Given the description of an element on the screen output the (x, y) to click on. 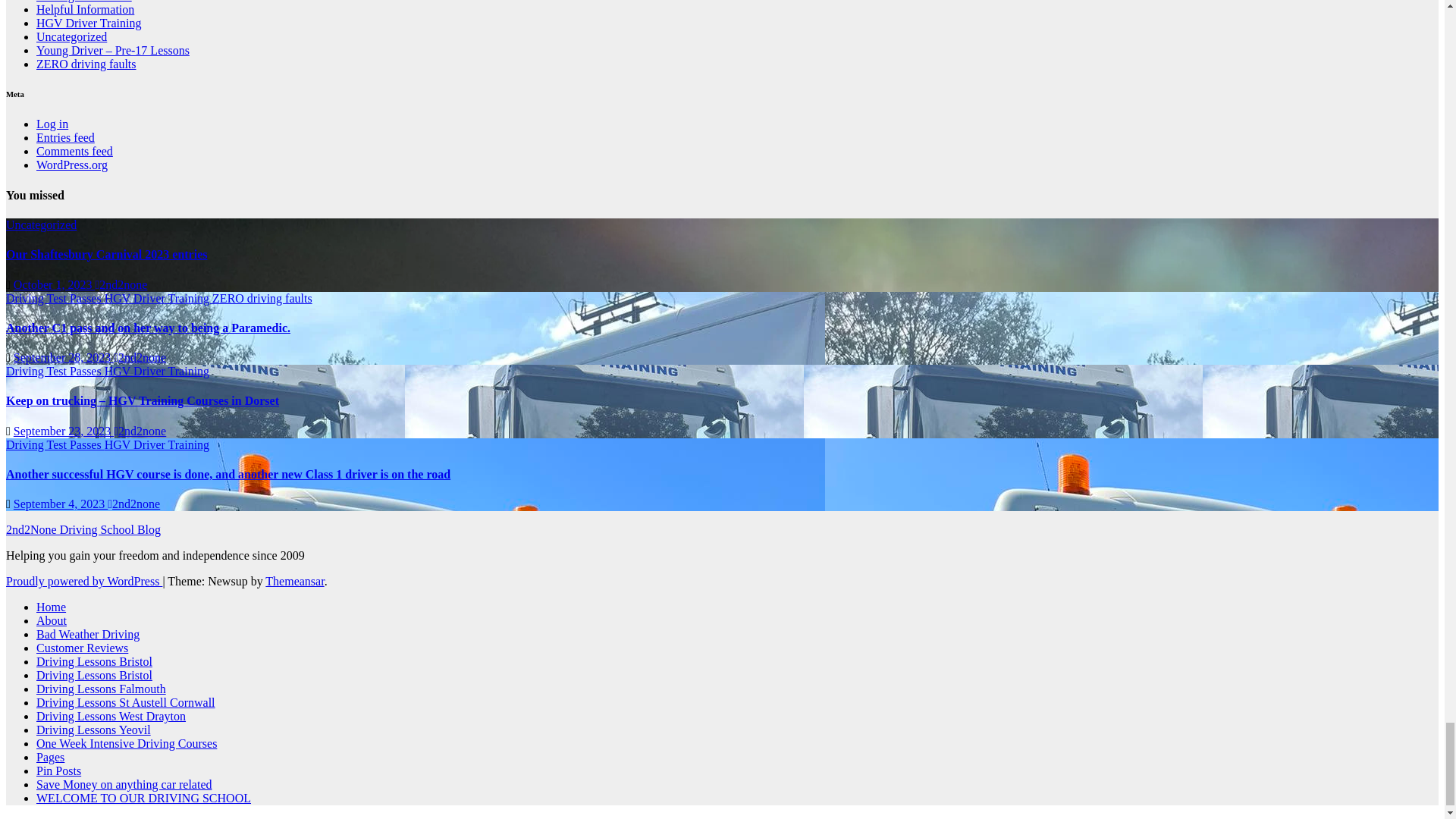
Home (50, 606)
Permalink to: Our Shaftesbury Carnival 2023 entries (105, 254)
